Given the description of an element on the screen output the (x, y) to click on. 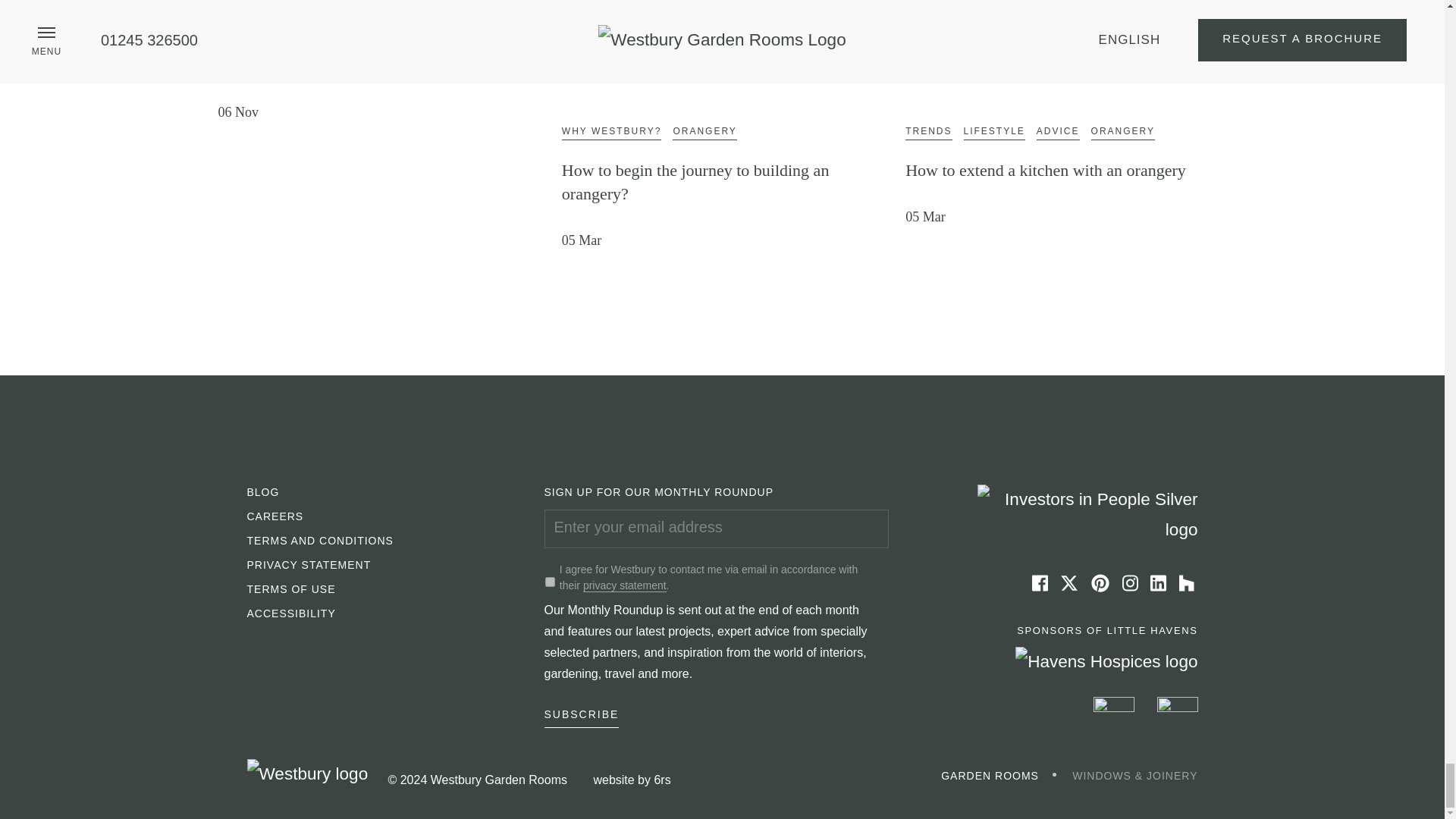
How to begin the journey to building an orangery? (722, 29)
Westbury Garden Rooms Home page (307, 772)
sixredsquares (661, 780)
How to extend a kitchen with an orangery (1065, 29)
Subscribe (582, 716)
Consented (549, 582)
